Given the description of an element on the screen output the (x, y) to click on. 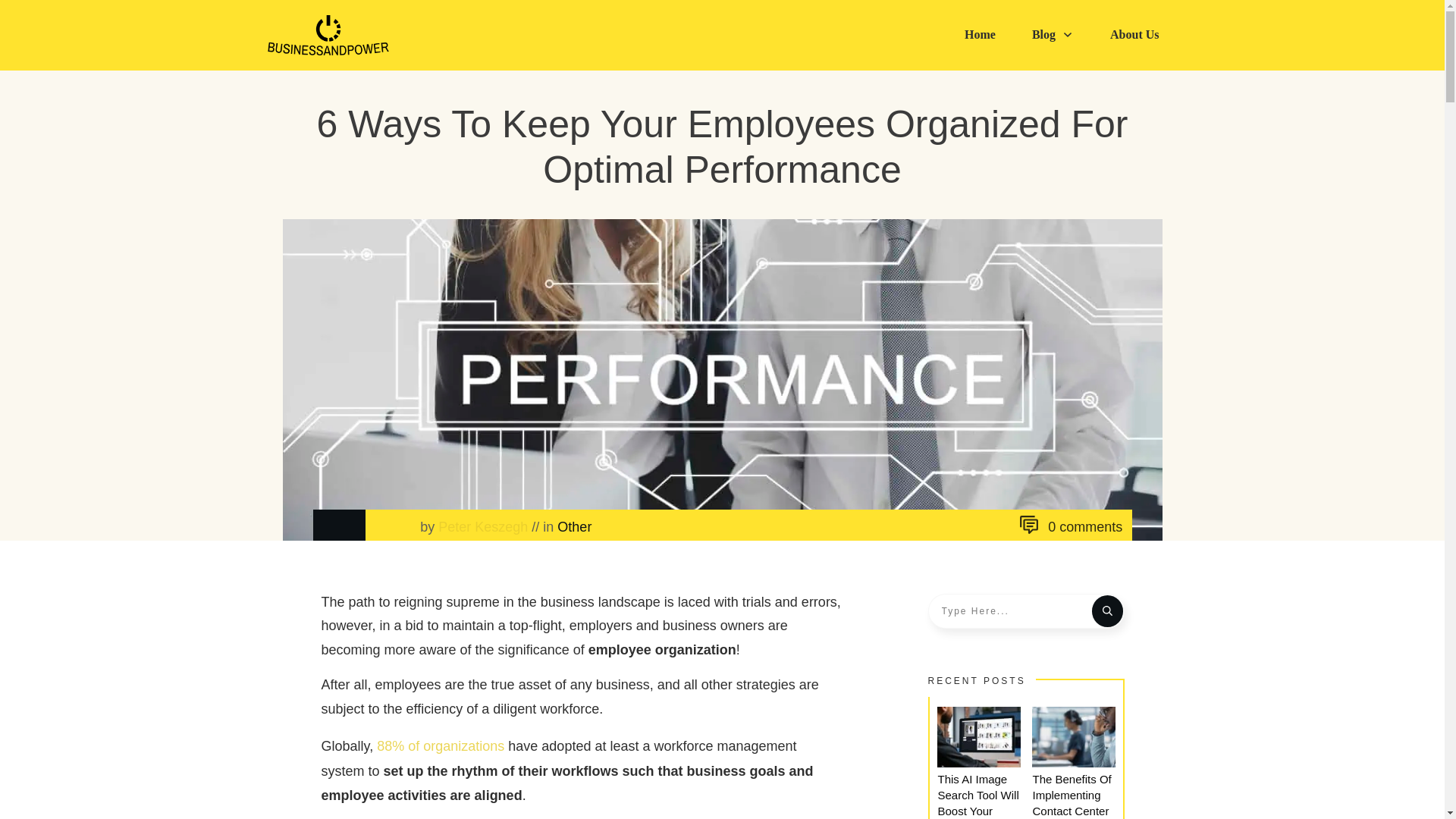
Home (979, 34)
Blog (1053, 34)
Peter Keszegh (482, 526)
Other (574, 526)
Other (574, 526)
About Us (1133, 34)
